Given the description of an element on the screen output the (x, y) to click on. 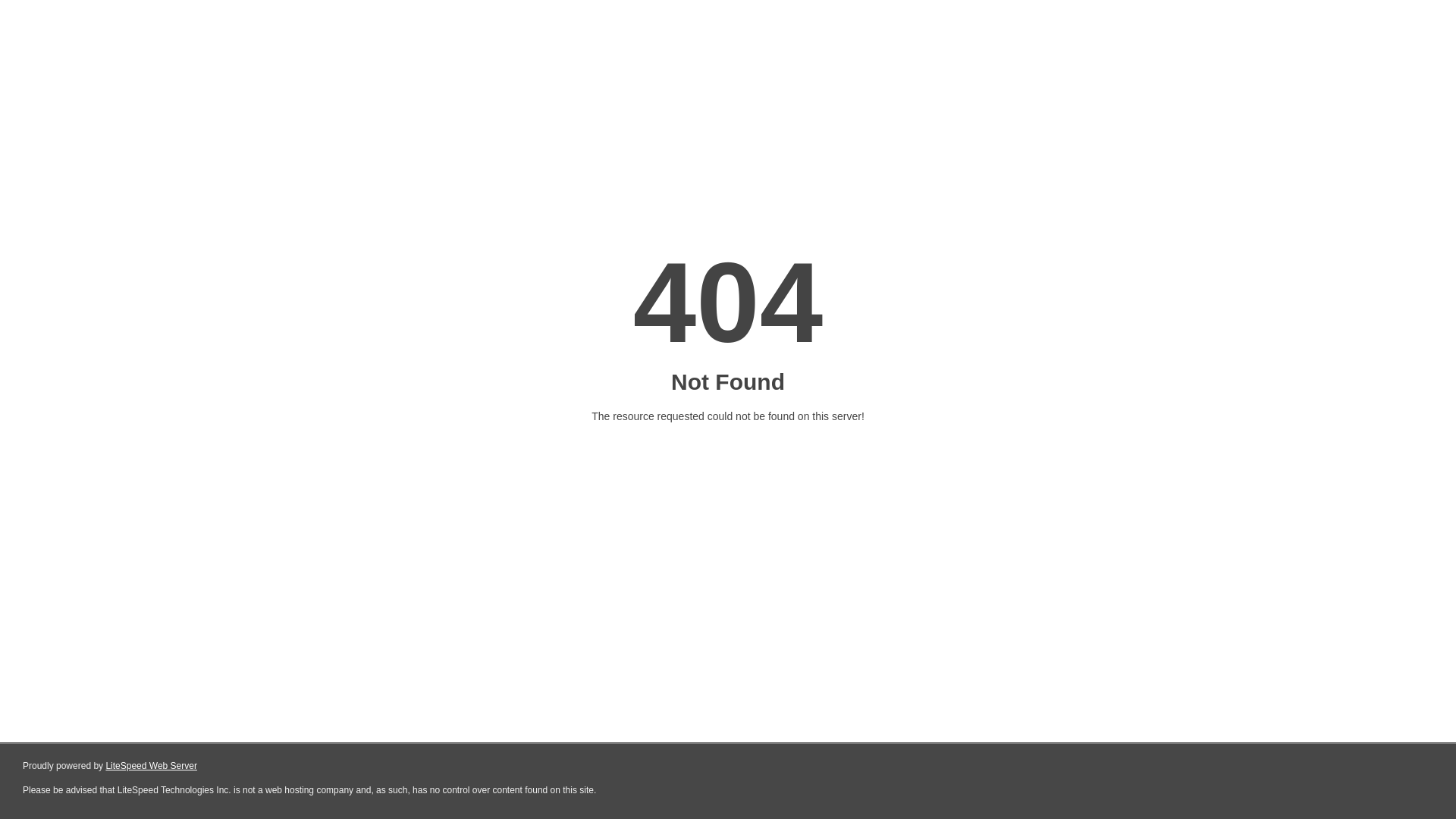
LiteSpeed Web Server Element type: text (151, 765)
